Given the description of an element on the screen output the (x, y) to click on. 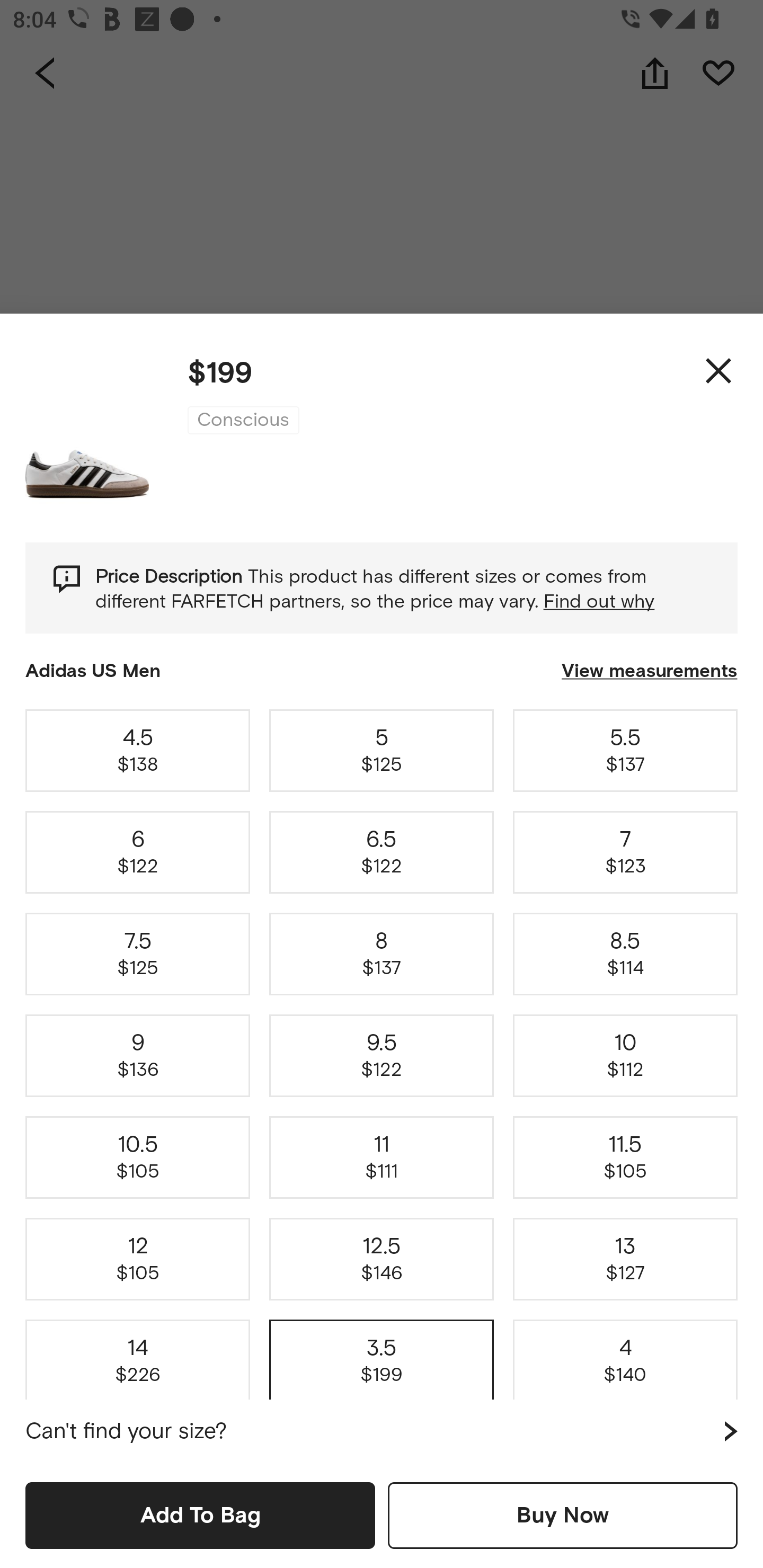
4.5 $138 (137, 749)
5 $125 (381, 749)
5.5 $137 (624, 749)
6 $122 (137, 851)
6.5 $122 (381, 851)
7 $123 (624, 851)
7.5 $125 (137, 953)
8 $137 (381, 953)
8.5 $114 (624, 953)
9 $136 (137, 1055)
9.5 $122 (381, 1055)
10 $112 (624, 1055)
10.5 $105 (137, 1157)
11 $111 (381, 1157)
11.5 $105 (624, 1157)
12 $105 (137, 1258)
12.5 $146 (381, 1258)
13 $127 (624, 1258)
14 $226 (137, 1356)
3.5 $199 (381, 1356)
4 $140 (624, 1356)
Can't find your size? (381, 1431)
Add To Bag (200, 1515)
Buy Now (562, 1515)
